Given the description of an element on the screen output the (x, y) to click on. 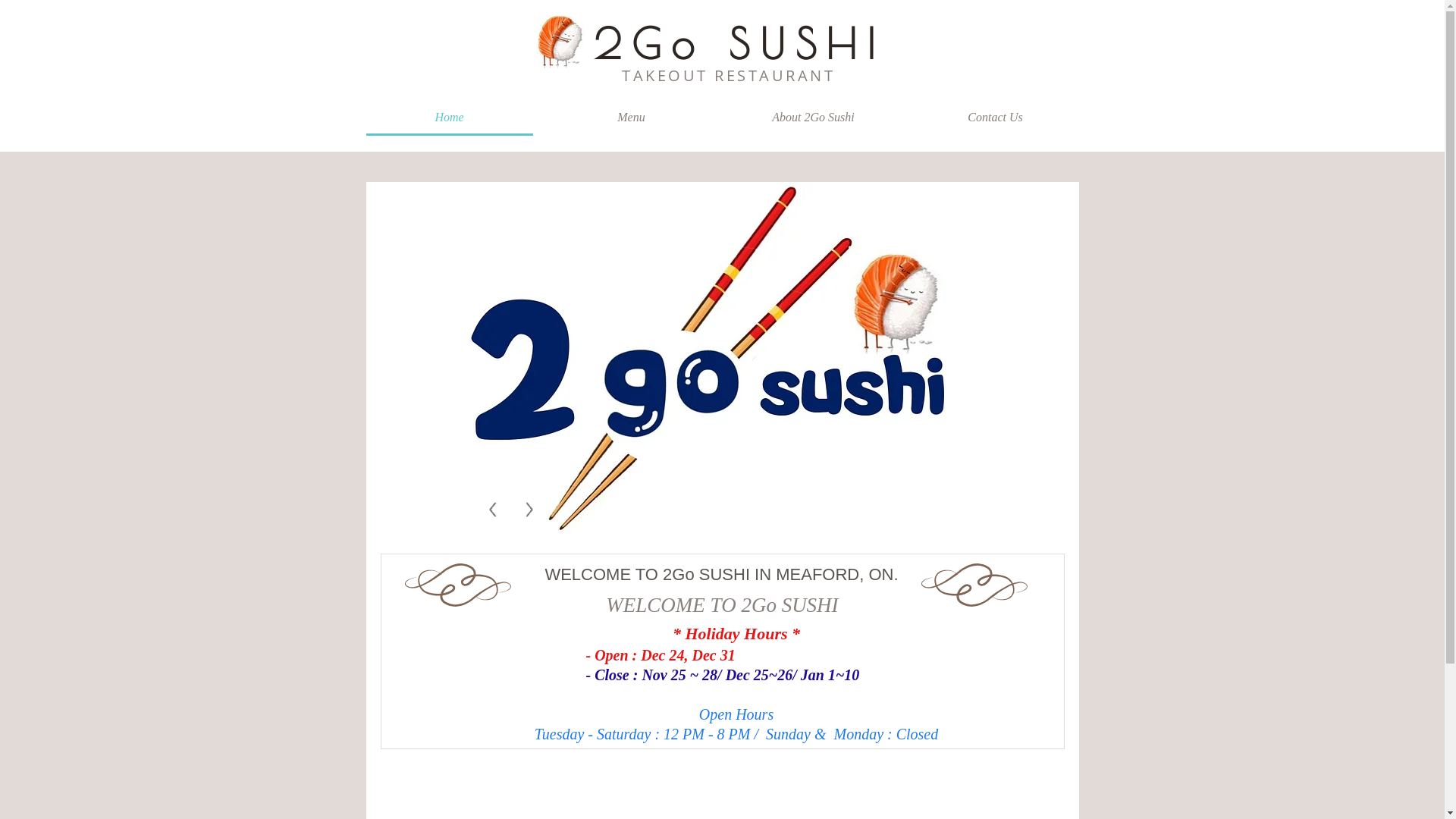
About 2Go Sushi Element type: text (812, 118)
Home Element type: text (448, 118)
Contact Us Element type: text (994, 118)
Menu Element type: text (630, 118)
